Given the description of an element on the screen output the (x, y) to click on. 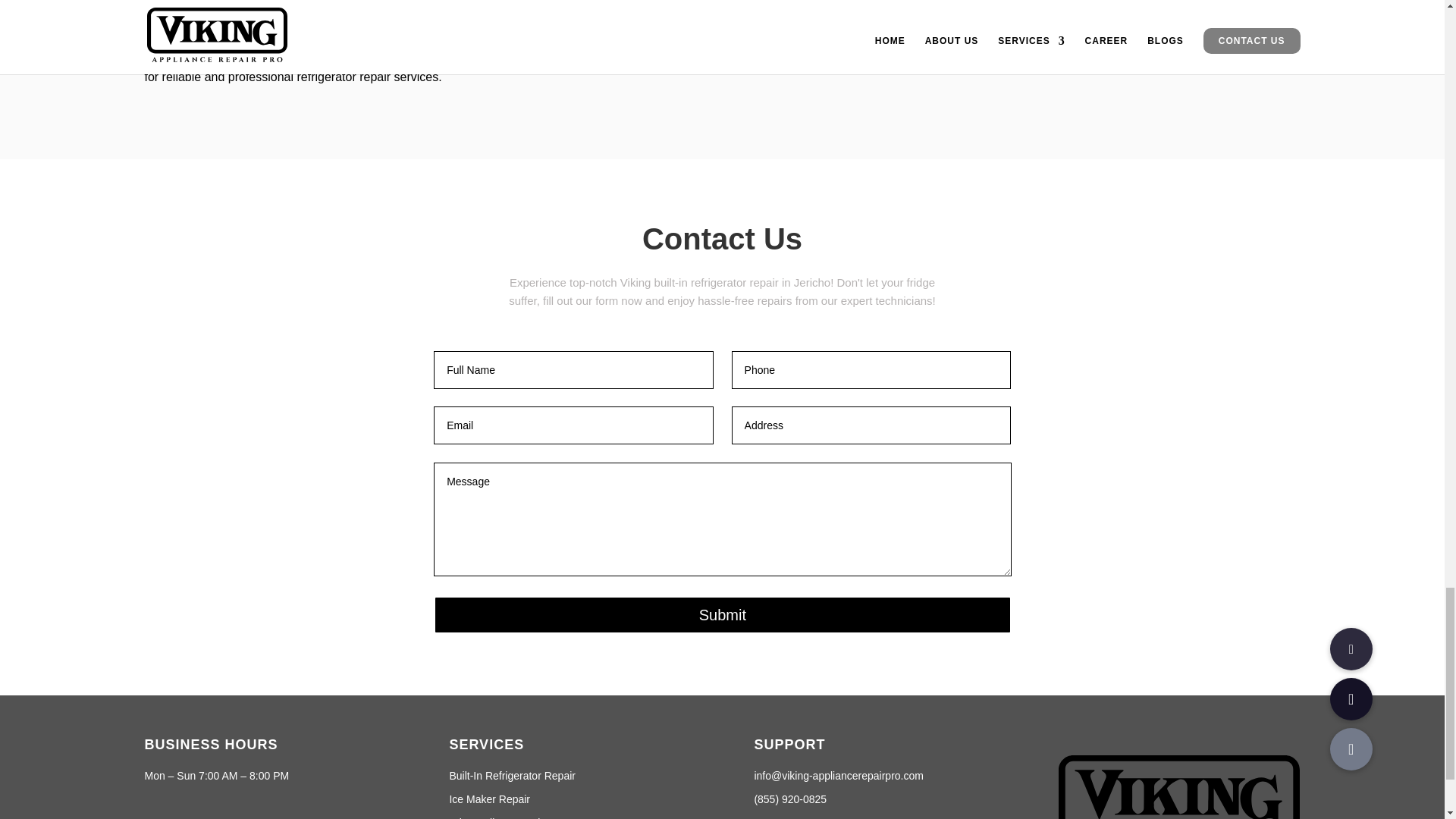
FAQ (764, 817)
Wine Cellars Repair (495, 817)
Built-In Refrigerator Repair (511, 775)
Logo Black (1179, 787)
Submit (721, 614)
Ice Maker Repair (488, 799)
